Given the description of an element on the screen output the (x, y) to click on. 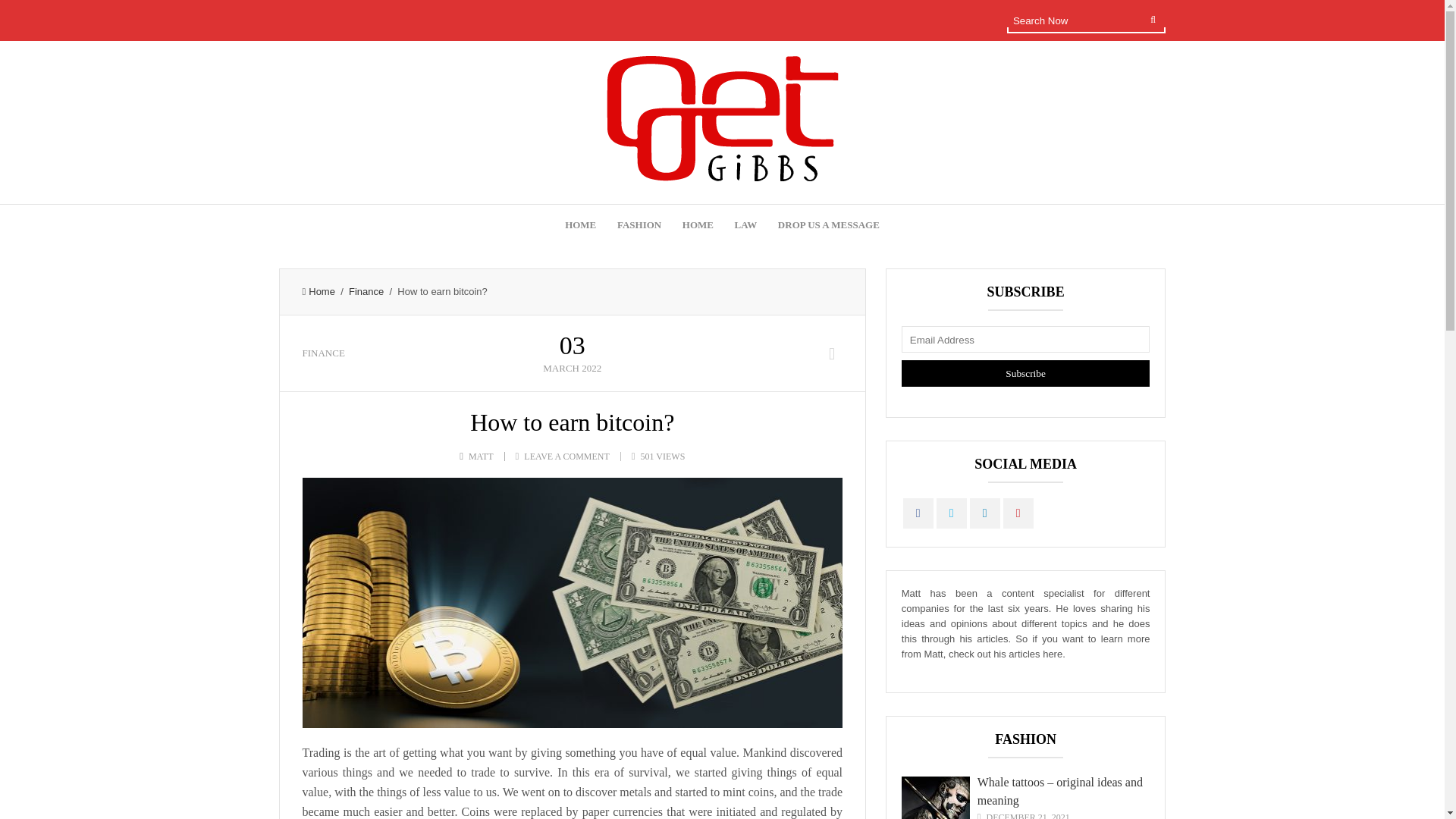
Subscribe (1025, 373)
LAW (746, 224)
DROP US A MESSAGE (828, 224)
Subscribe (1025, 373)
FINANCE (322, 352)
Posts by Matt (480, 456)
View all posts in Finance (322, 352)
March 3, 2022 (572, 351)
LEAVE A COMMENT (566, 456)
HOME (697, 224)
